Given the description of an element on the screen output the (x, y) to click on. 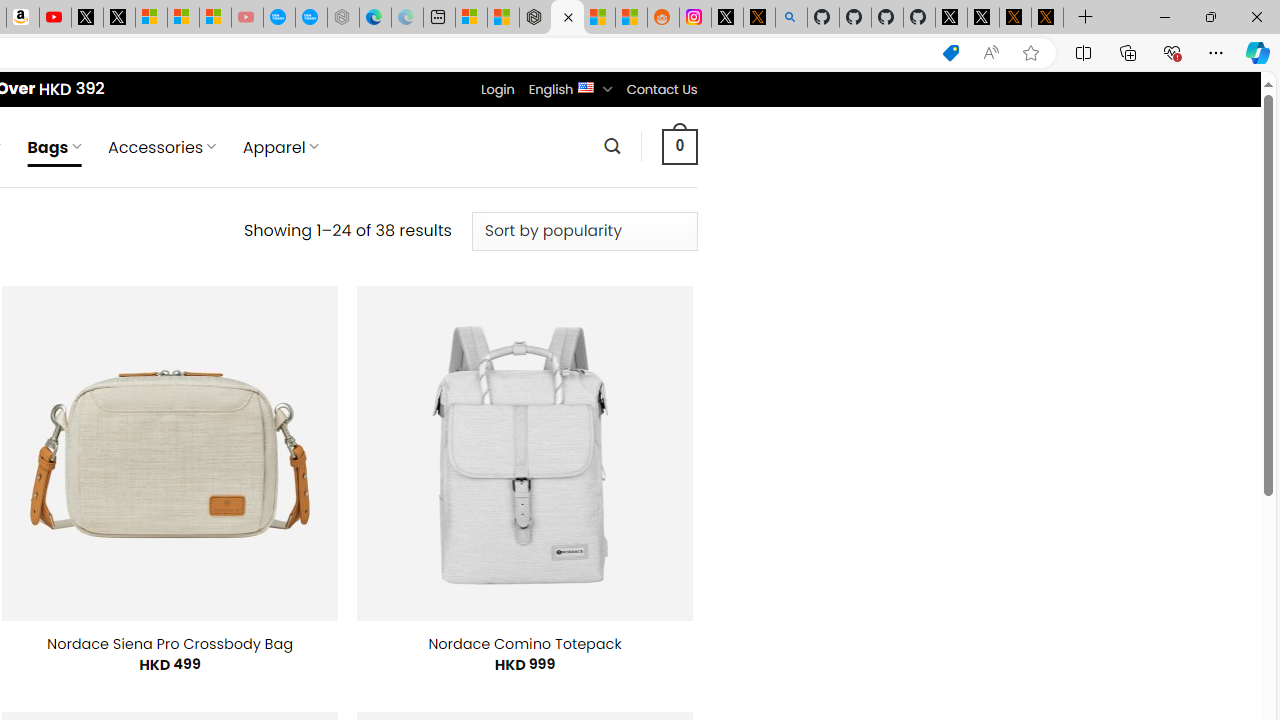
Profile / X (950, 17)
GitHub (@github) / X (983, 17)
Nordace Siena Pro Crossbody Bag (170, 643)
github - Search (791, 17)
Nordace Comino Totepack (524, 643)
Gloom - YouTube - Sleeping (246, 17)
Search (612, 146)
Microsoft account | Microsoft Account Privacy Settings (471, 17)
Shop order (584, 231)
Contact Us (661, 89)
Nordace - Bags (566, 17)
